Given the description of an element on the screen output the (x, y) to click on. 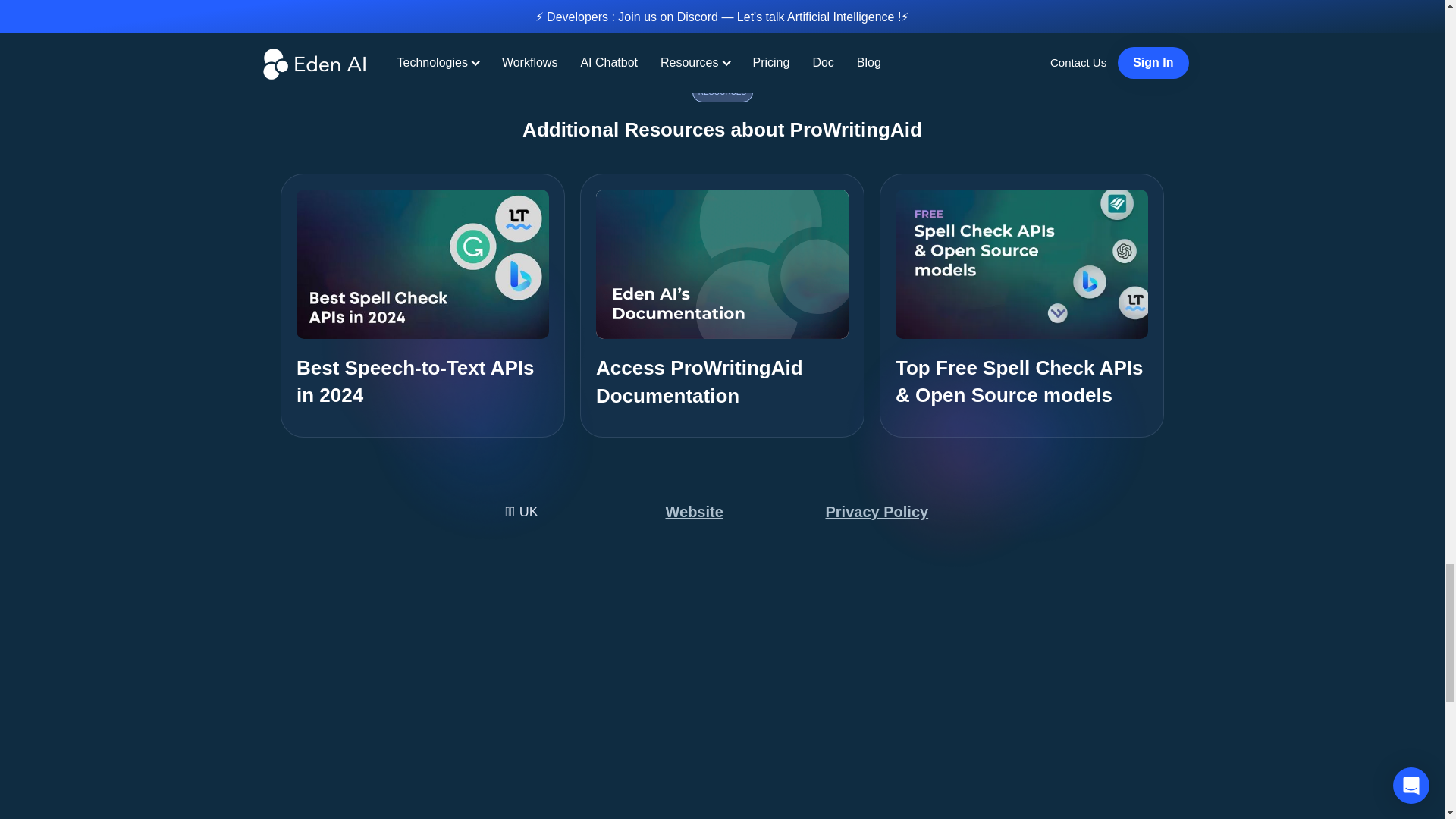
Best Speech-to-Text APIs in 2024 (422, 305)
Access ProWritingAid Documentation (721, 305)
Privacy Policy (880, 511)
Website (697, 511)
